Given the description of an element on the screen output the (x, y) to click on. 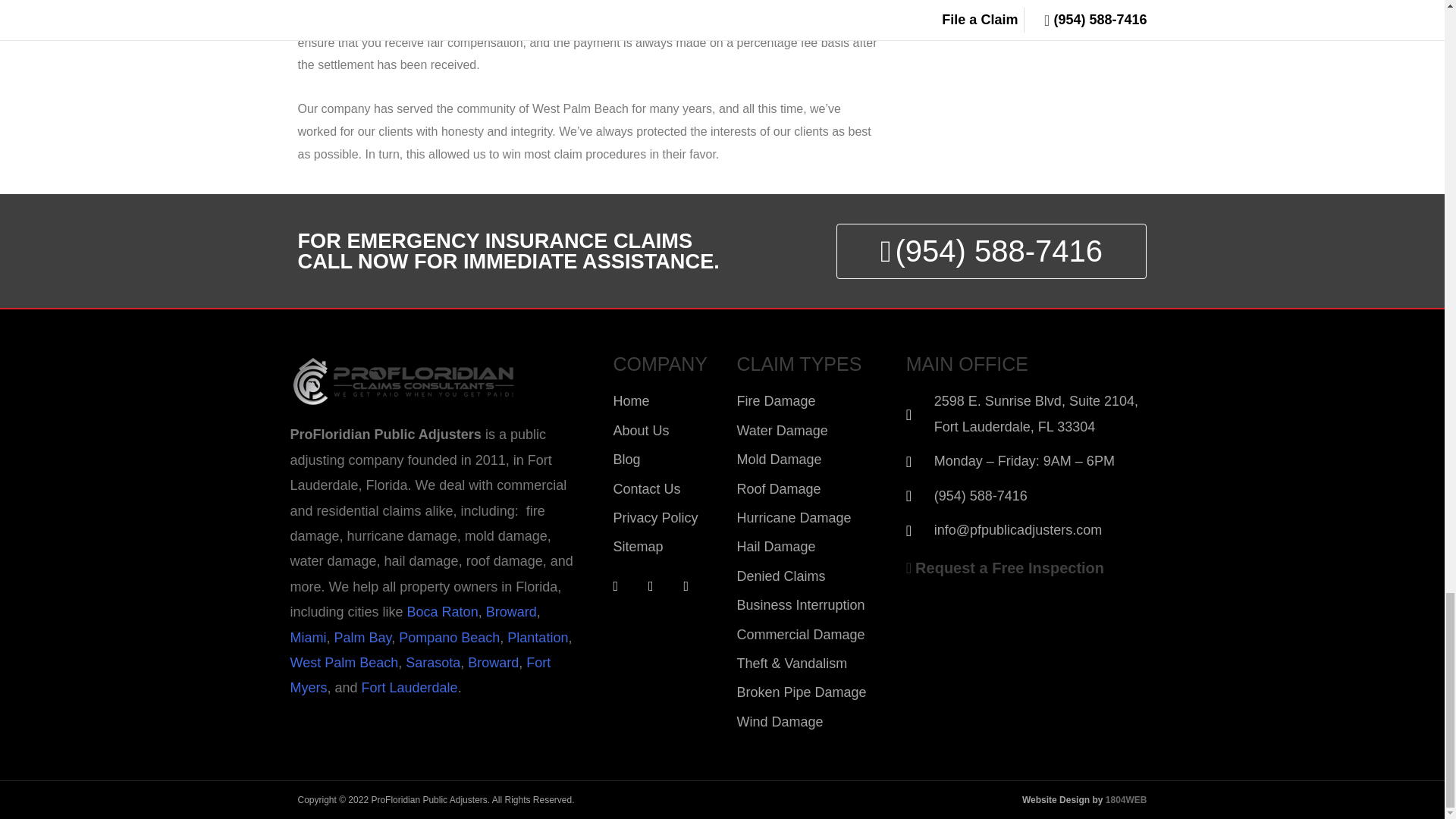
ProFloridan Public Adjusters (402, 380)
